Given the description of an element on the screen output the (x, y) to click on. 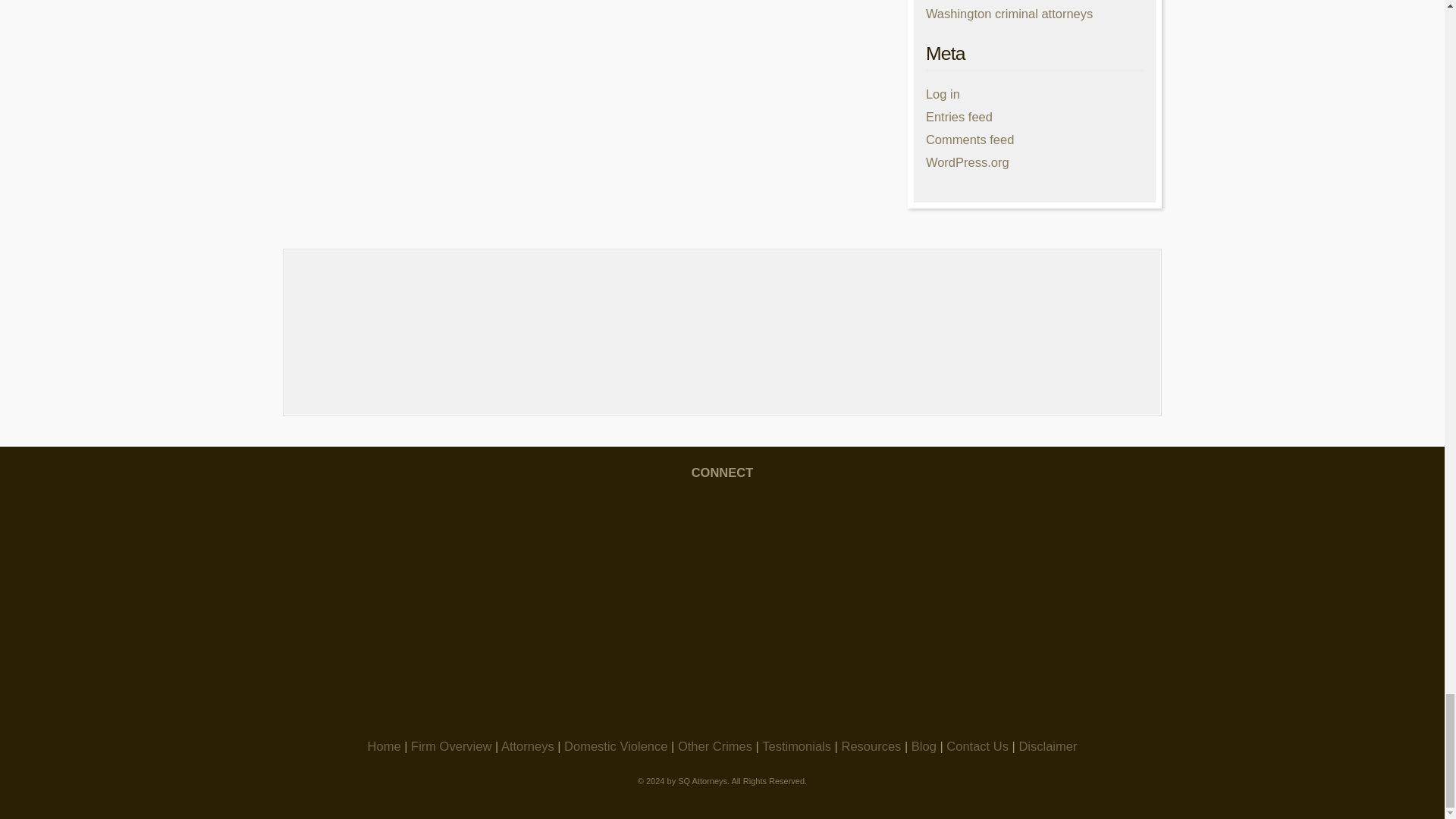
Simple WordPress Themes (1133, 791)
Twitter (960, 539)
Facebook (482, 539)
Tumblr (721, 657)
Instagram (721, 539)
